Given the description of an element on the screen output the (x, y) to click on. 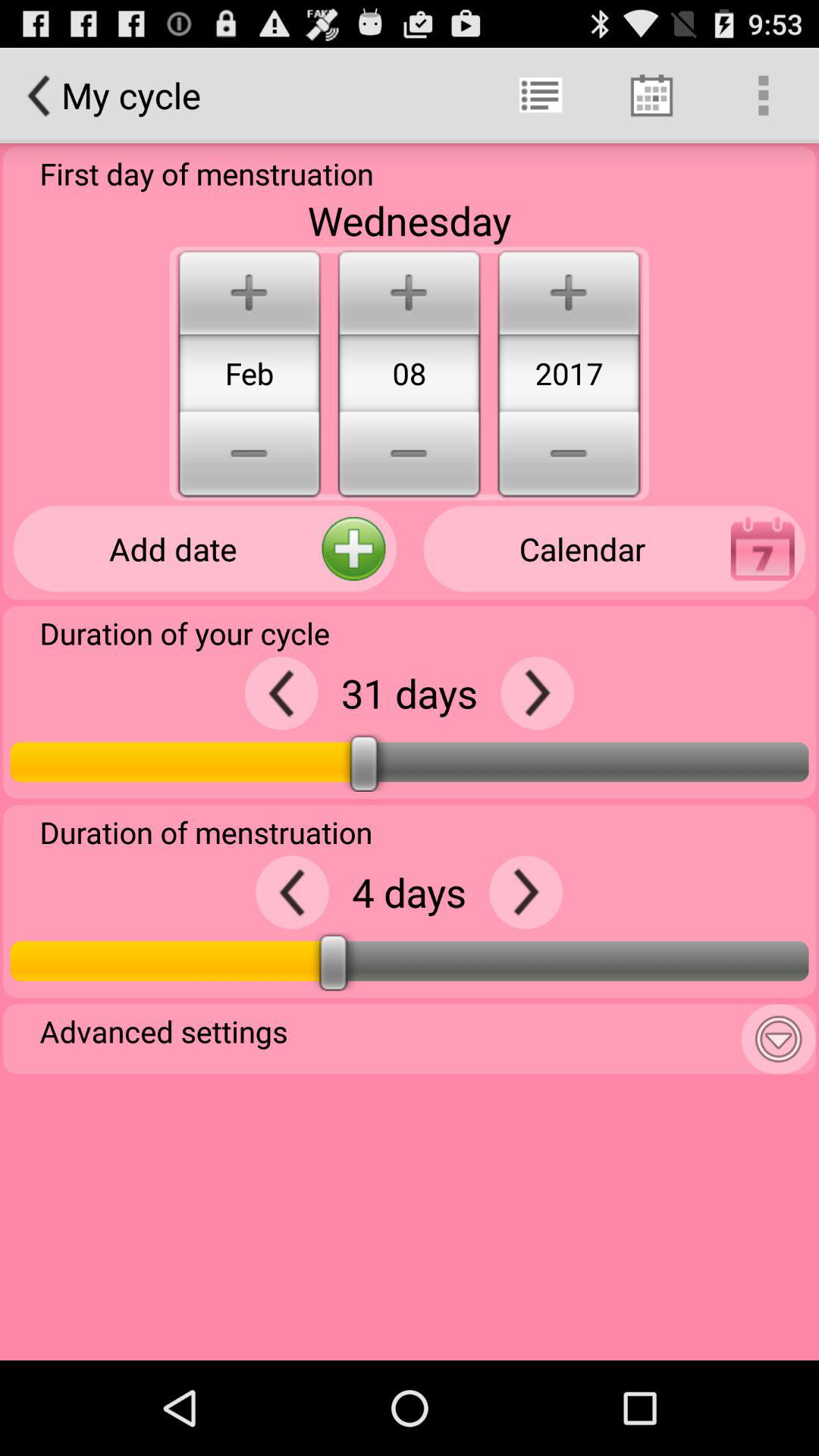
increase days (525, 892)
